Given the description of an element on the screen output the (x, y) to click on. 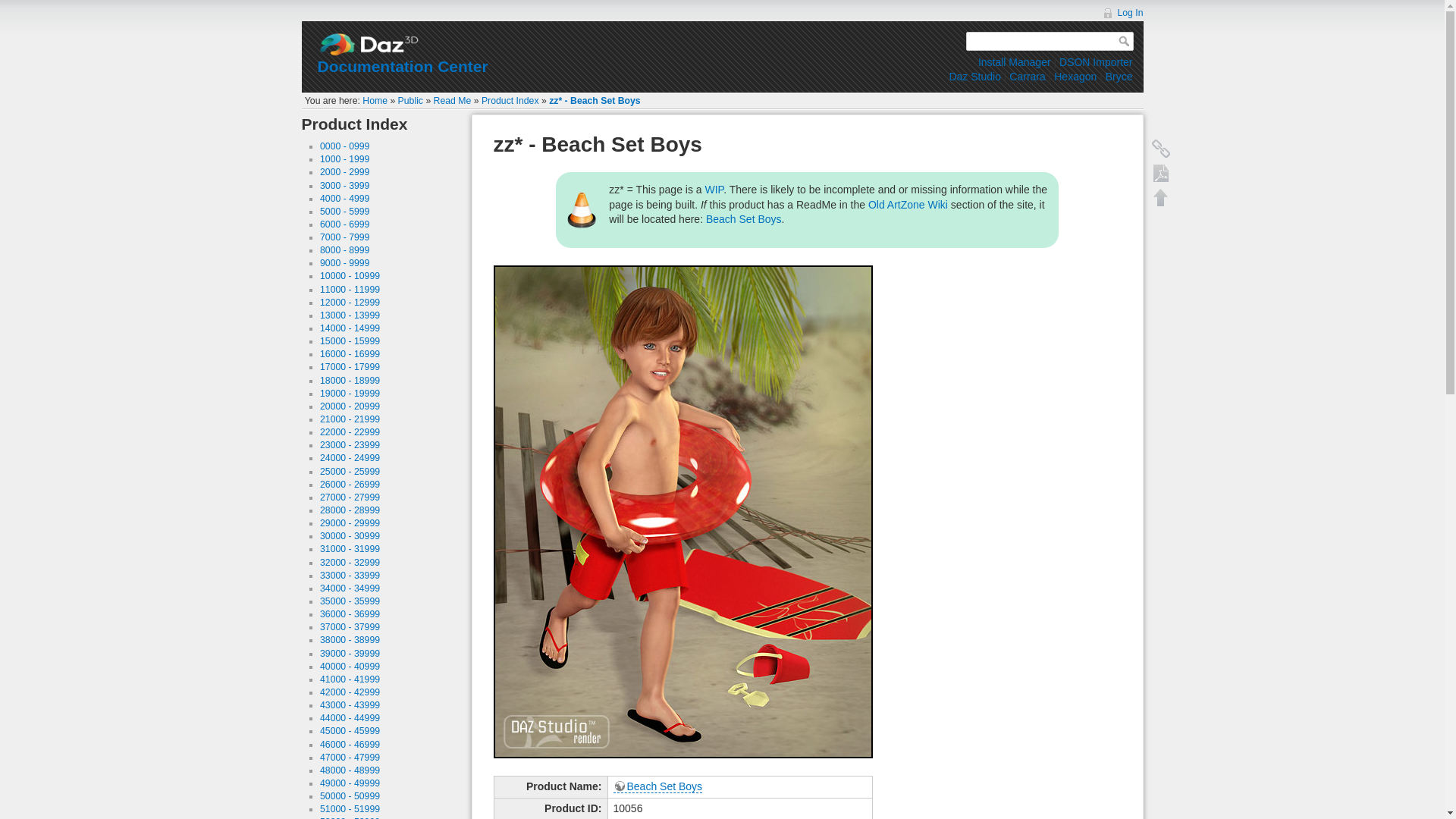
11000 - 11999 (350, 289)
start (374, 100)
Log In (1122, 12)
Install Manager (1014, 61)
Search (1125, 40)
Carrara (1027, 76)
6000 - 6999 (344, 224)
Search (1125, 40)
17000 - 17999 (350, 366)
5000 - 5999 (344, 211)
public:software:dazstudio:start (974, 76)
Search (1125, 40)
Hexagon (1075, 76)
Product Index (509, 100)
8000 - 8999 (344, 249)
